Given the description of an element on the screen output the (x, y) to click on. 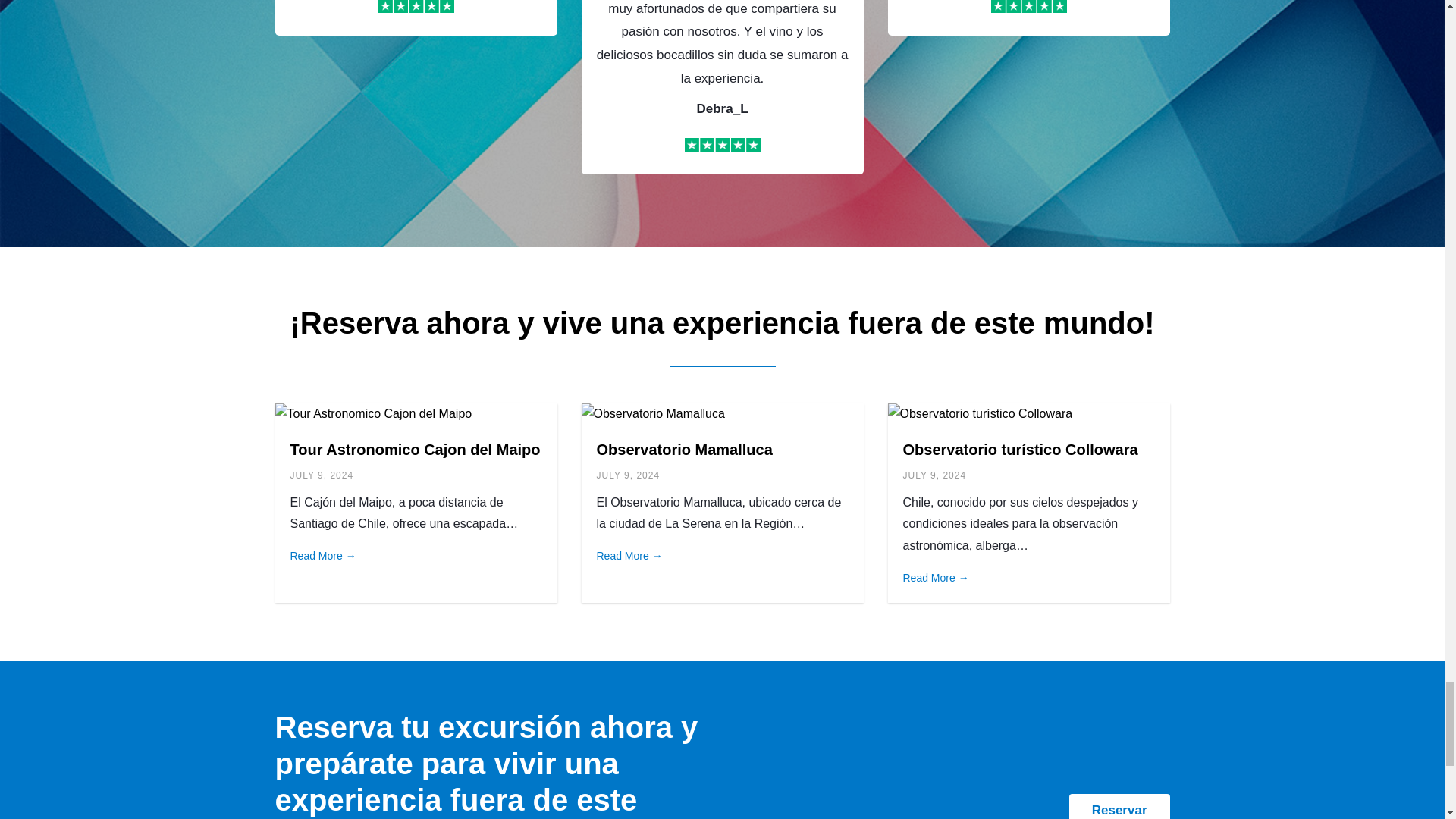
Observatorio Mamalluca (683, 449)
Tour Astronomico Cajon del Maipo (414, 449)
Reservar (1119, 806)
